Given the description of an element on the screen output the (x, y) to click on. 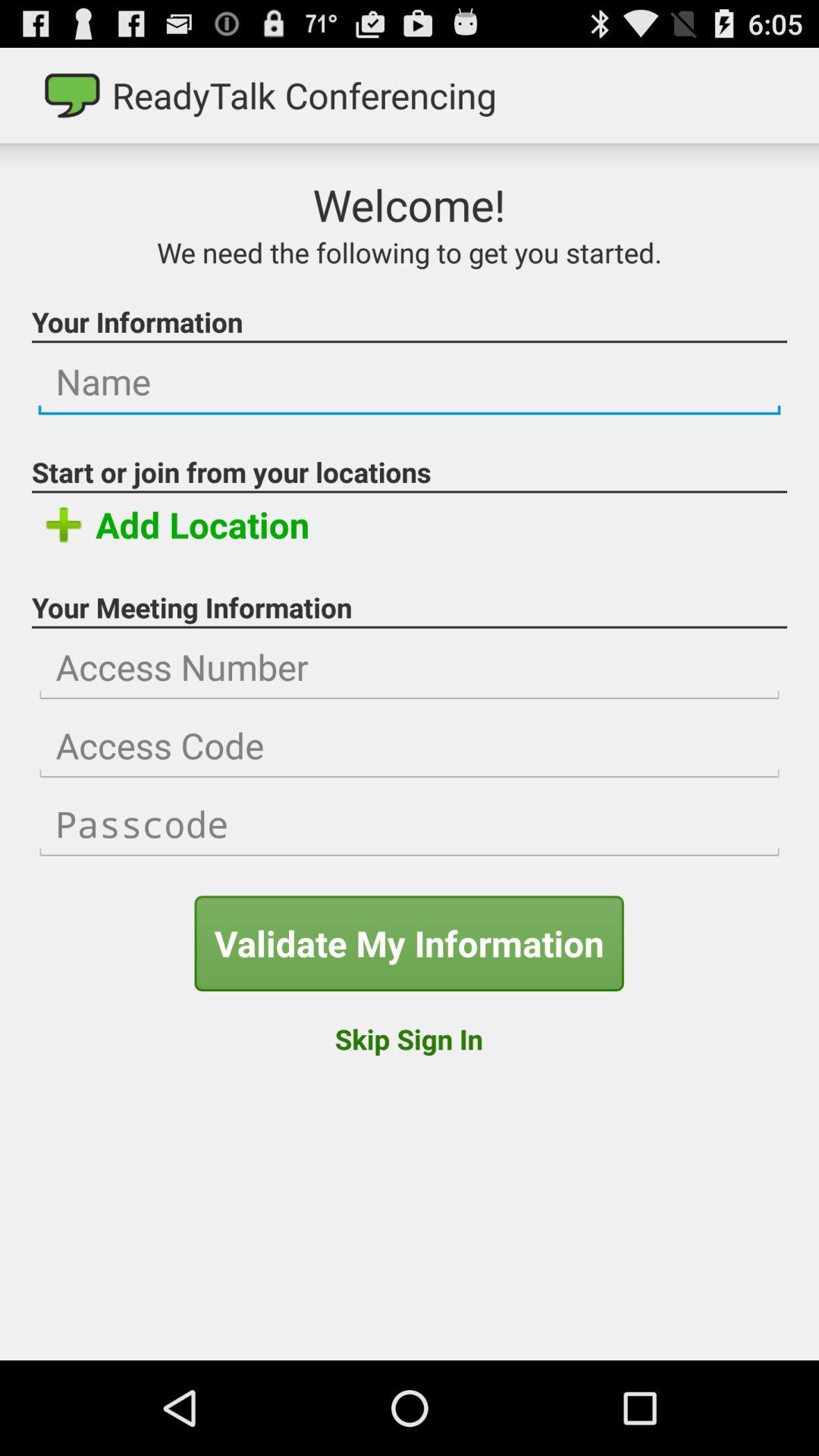
turn on the icon below the validate my information (408, 1038)
